Given the description of an element on the screen output the (x, y) to click on. 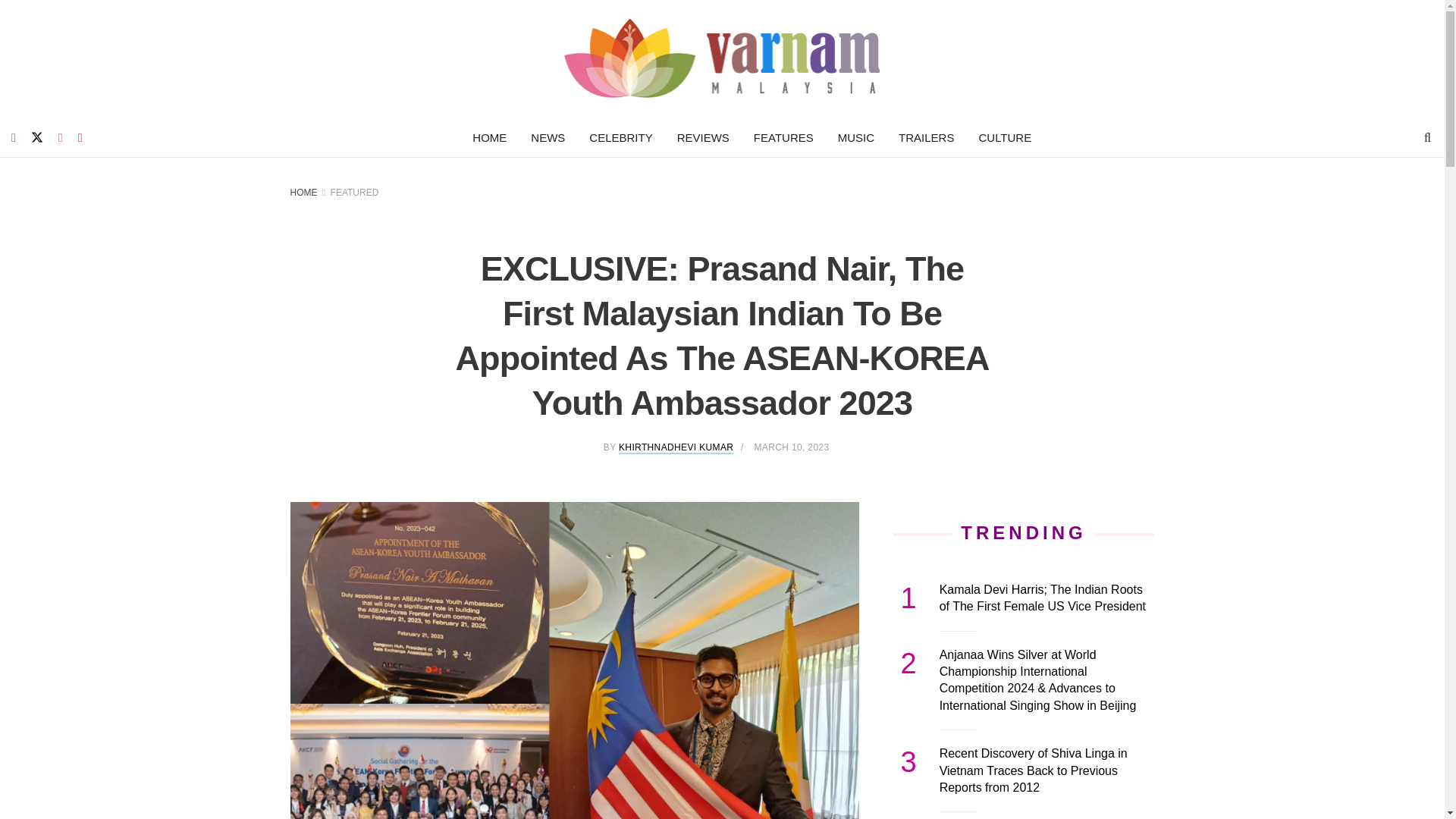
FEATURES (783, 137)
MARCH 10, 2023 (791, 447)
CULTURE (1004, 137)
MUSIC (855, 137)
NEWS (547, 137)
KHIRTHNADHEVI KUMAR (675, 448)
FEATURED (354, 192)
HOME (489, 137)
REVIEWS (703, 137)
CELEBRITY (619, 137)
TRAILERS (926, 137)
HOME (303, 192)
